Given the description of an element on the screen output the (x, y) to click on. 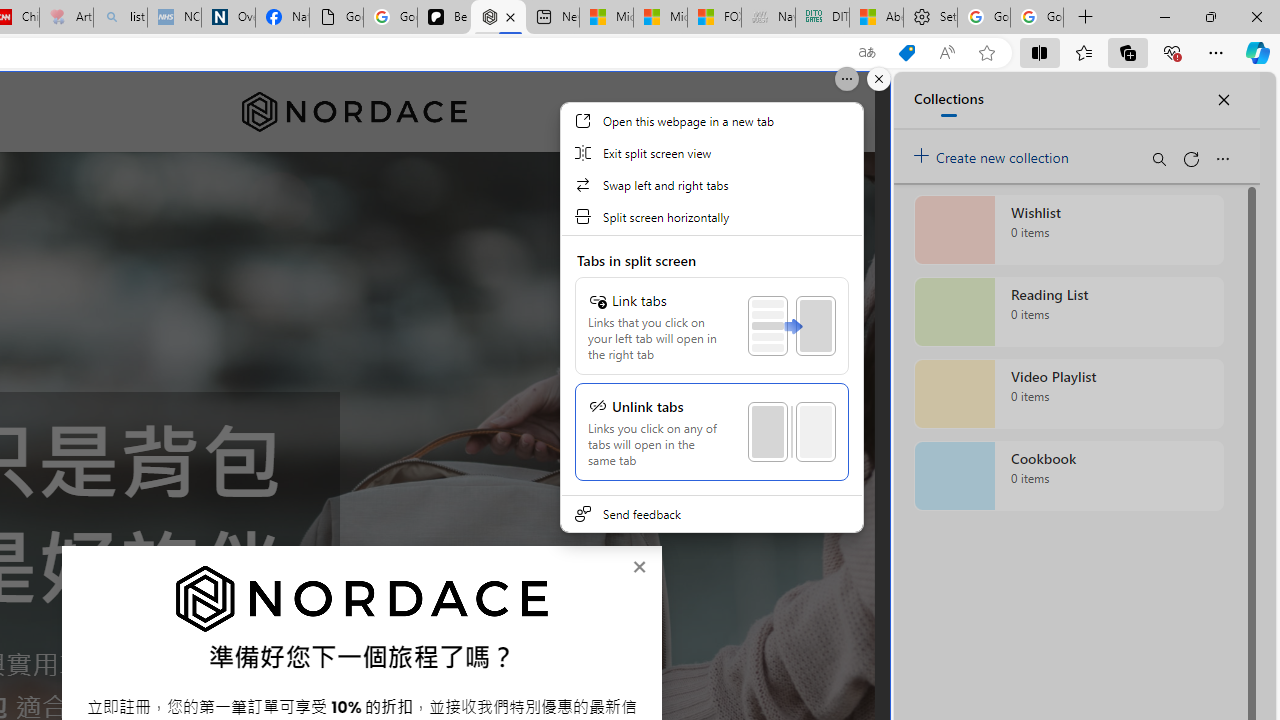
Split screen horizontally (711, 216)
Close split screen. (878, 79)
Open this webpage in a new tab (711, 120)
Google Analytics Opt-out Browser Add-on Download Page (336, 17)
DITOGAMES AG Imprint (822, 17)
Nordace - Nordace Siena Is Not An Ordinary Backpack (498, 17)
FOX News - MSN (714, 17)
Link tabs (711, 326)
